Given the description of an element on the screen output the (x, y) to click on. 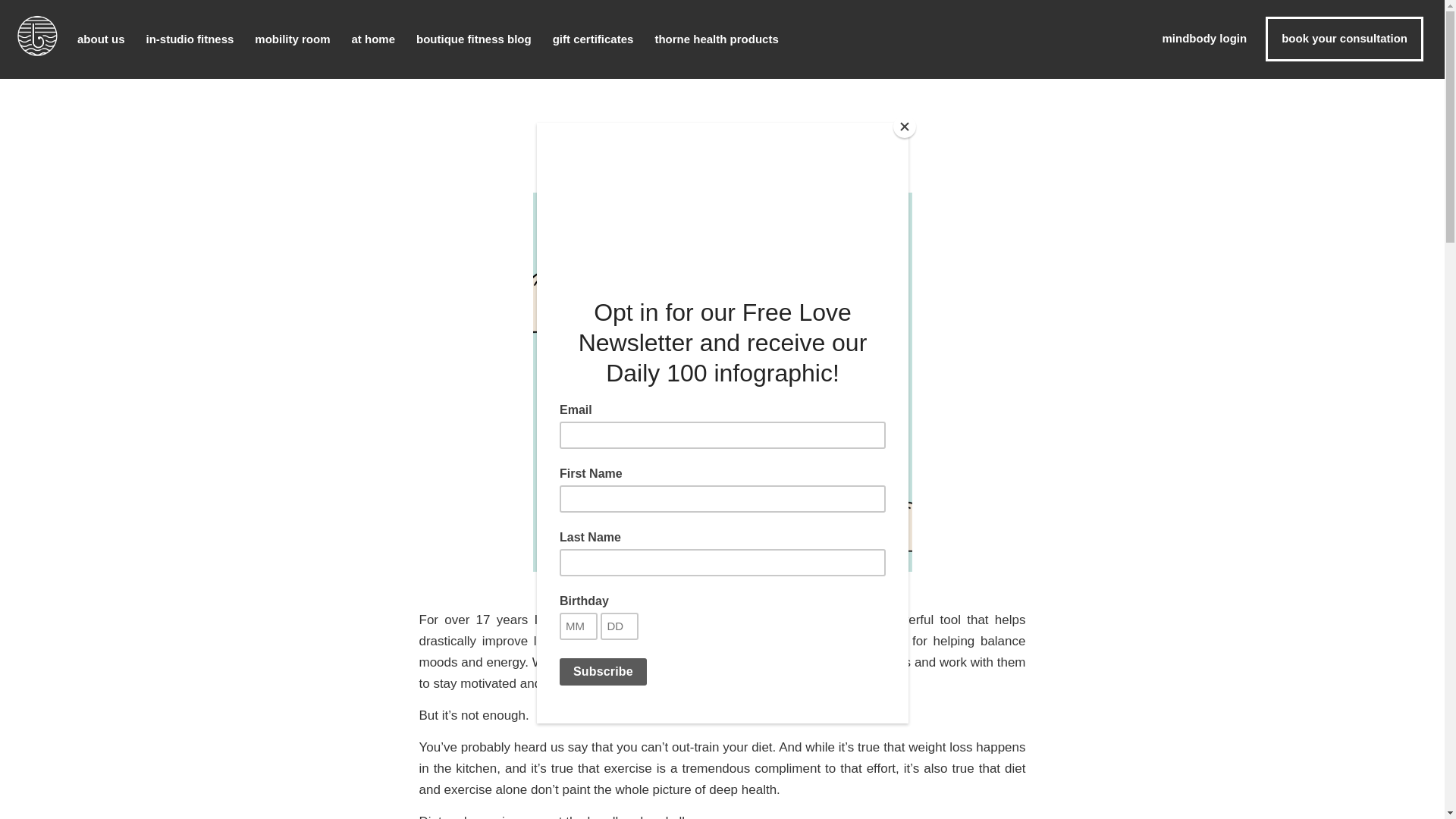
book your consultation (1344, 38)
thorne health products (715, 39)
at home (374, 39)
mobility room (292, 39)
mindbody login (1191, 36)
gift certificates (593, 39)
boutique fitness blog (473, 39)
in-studio fitness (188, 39)
about us (101, 39)
